Given the description of an element on the screen output the (x, y) to click on. 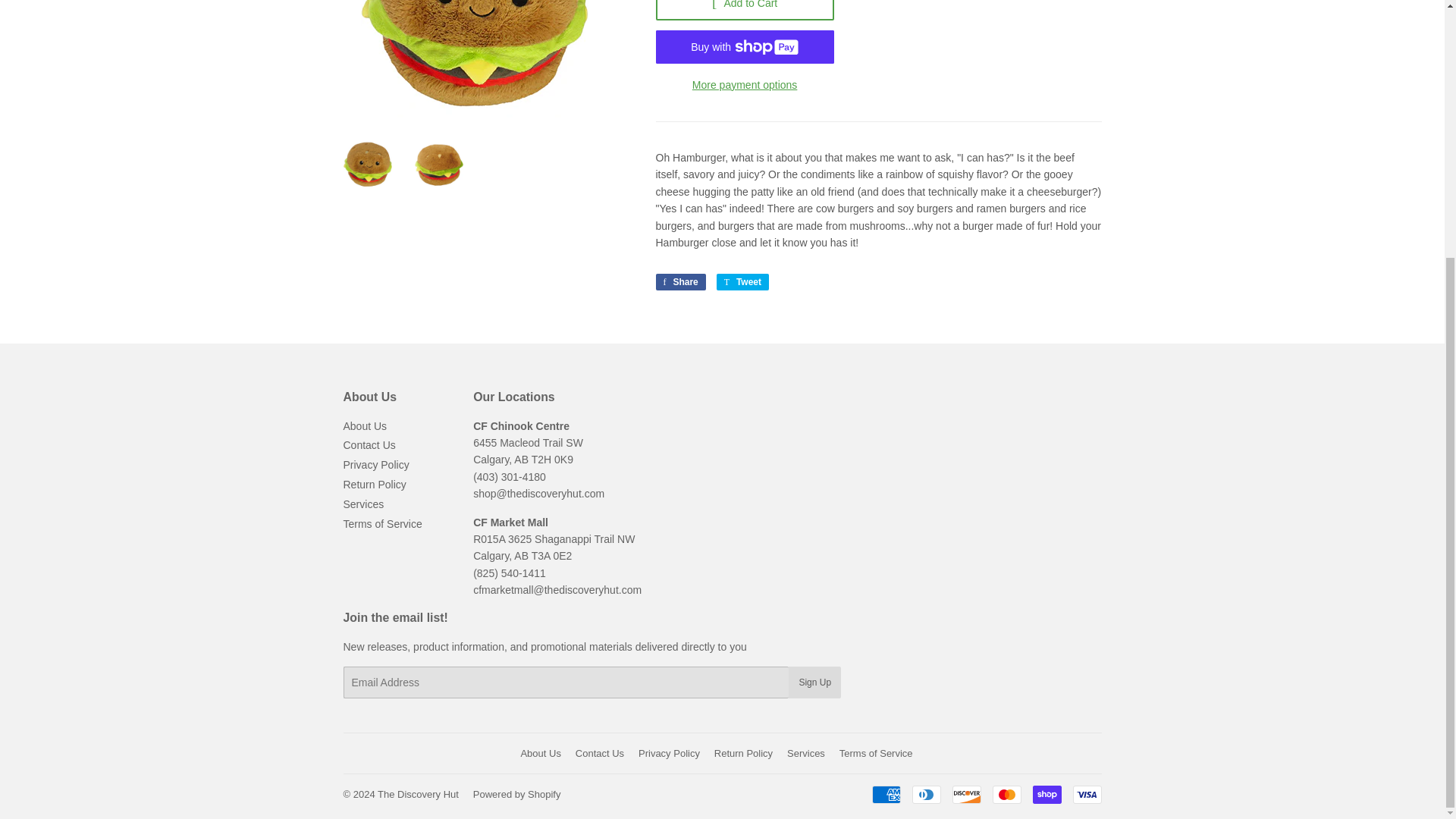
American Express (886, 794)
Shop Pay (1046, 794)
Share on Facebook (679, 281)
Visa (1085, 794)
Diners Club (925, 794)
Tweet on Twitter (742, 281)
Mastercard (1005, 794)
Discover (966, 794)
